Given the description of an element on the screen output the (x, y) to click on. 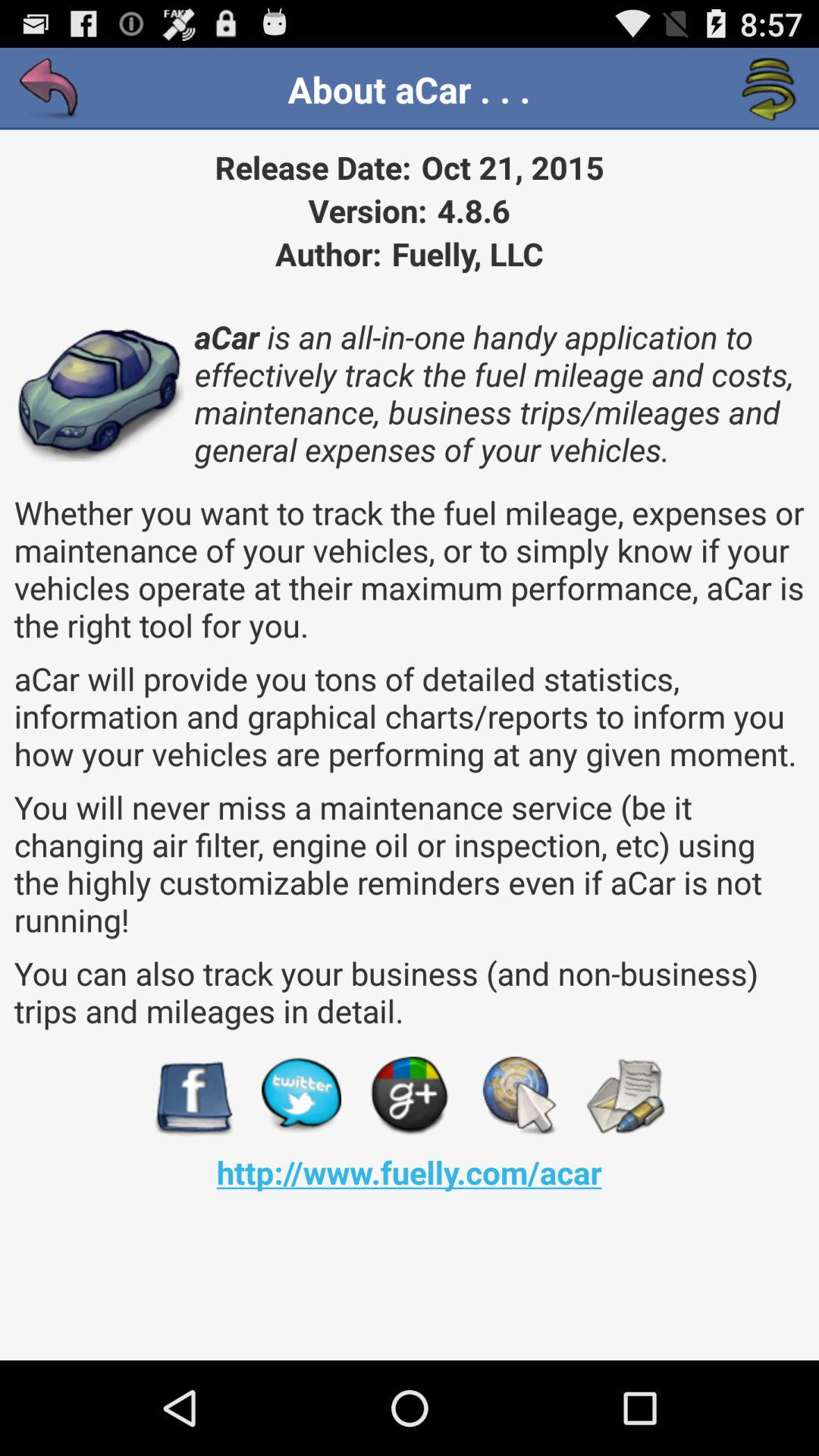
press the http www fuelly app (408, 1171)
